Given the description of an element on the screen output the (x, y) to click on. 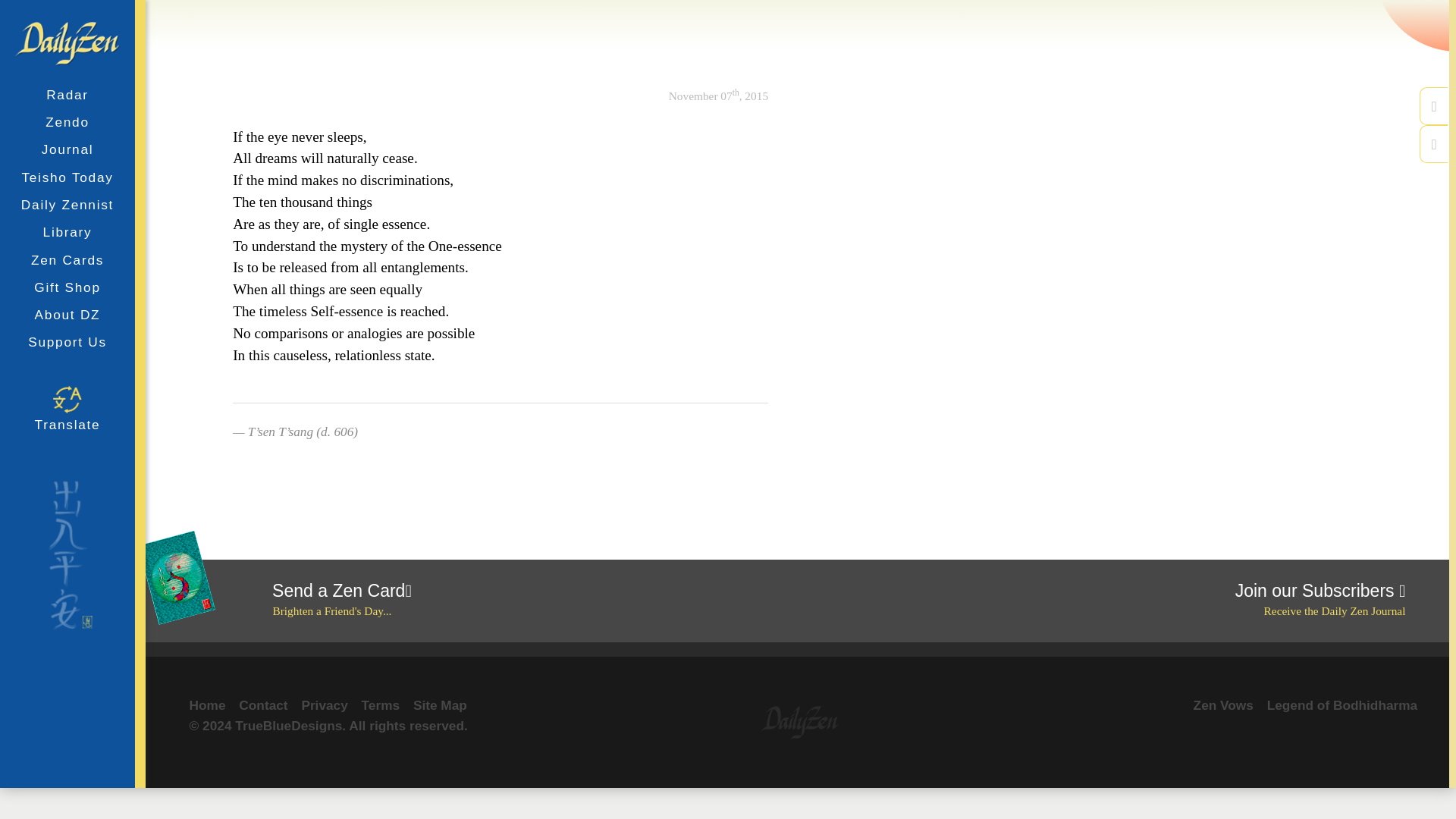
Daily Zennist (67, 205)
Translate (1101, 599)
Site Map (493, 599)
Zen Cards (67, 409)
Zen Vows (440, 704)
About DZ (66, 259)
Zendo (1223, 704)
Journal (67, 315)
